Given the description of an element on the screen output the (x, y) to click on. 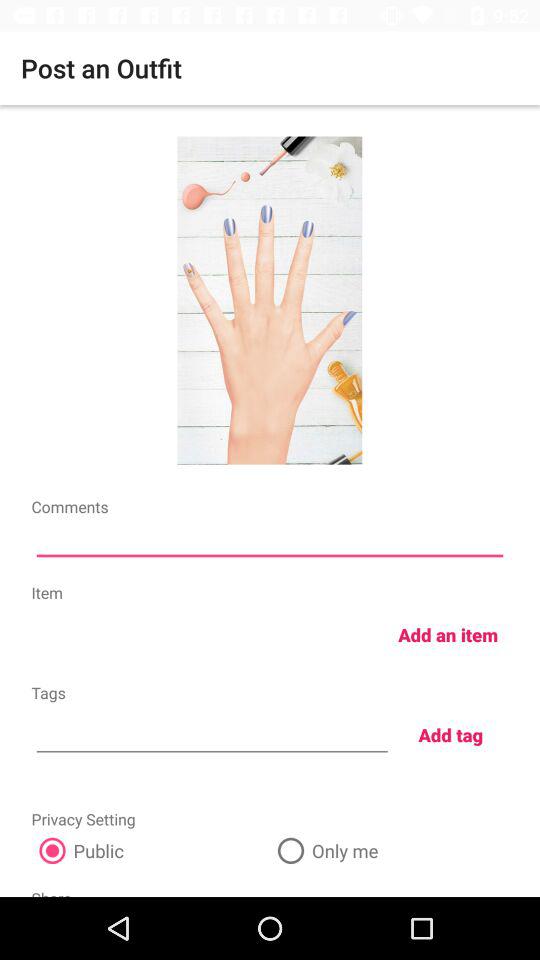
add coments in box (269, 541)
